Given the description of an element on the screen output the (x, y) to click on. 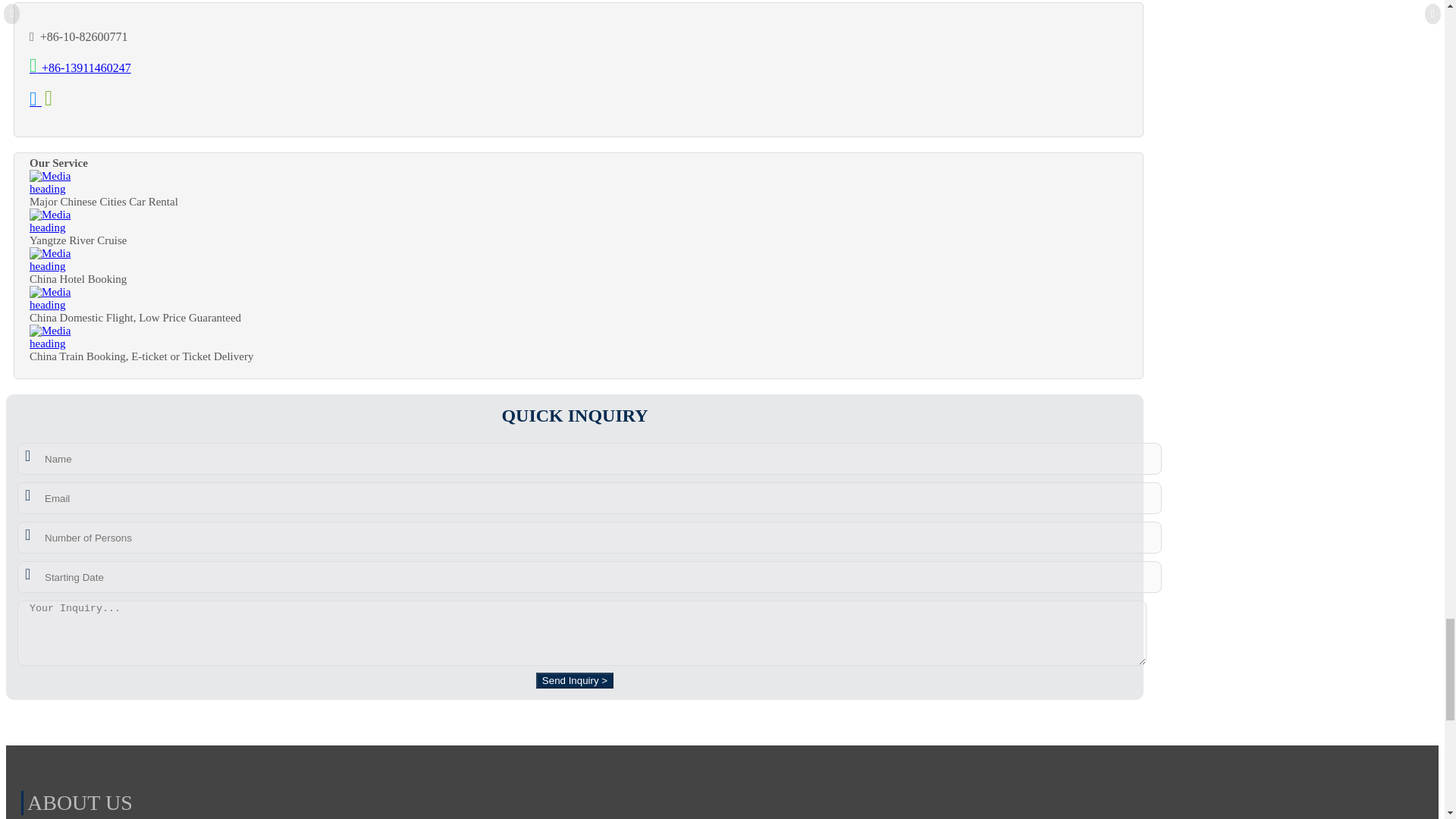
WeChat (51, 101)
Messenger (35, 101)
